Given the description of an element on the screen output the (x, y) to click on. 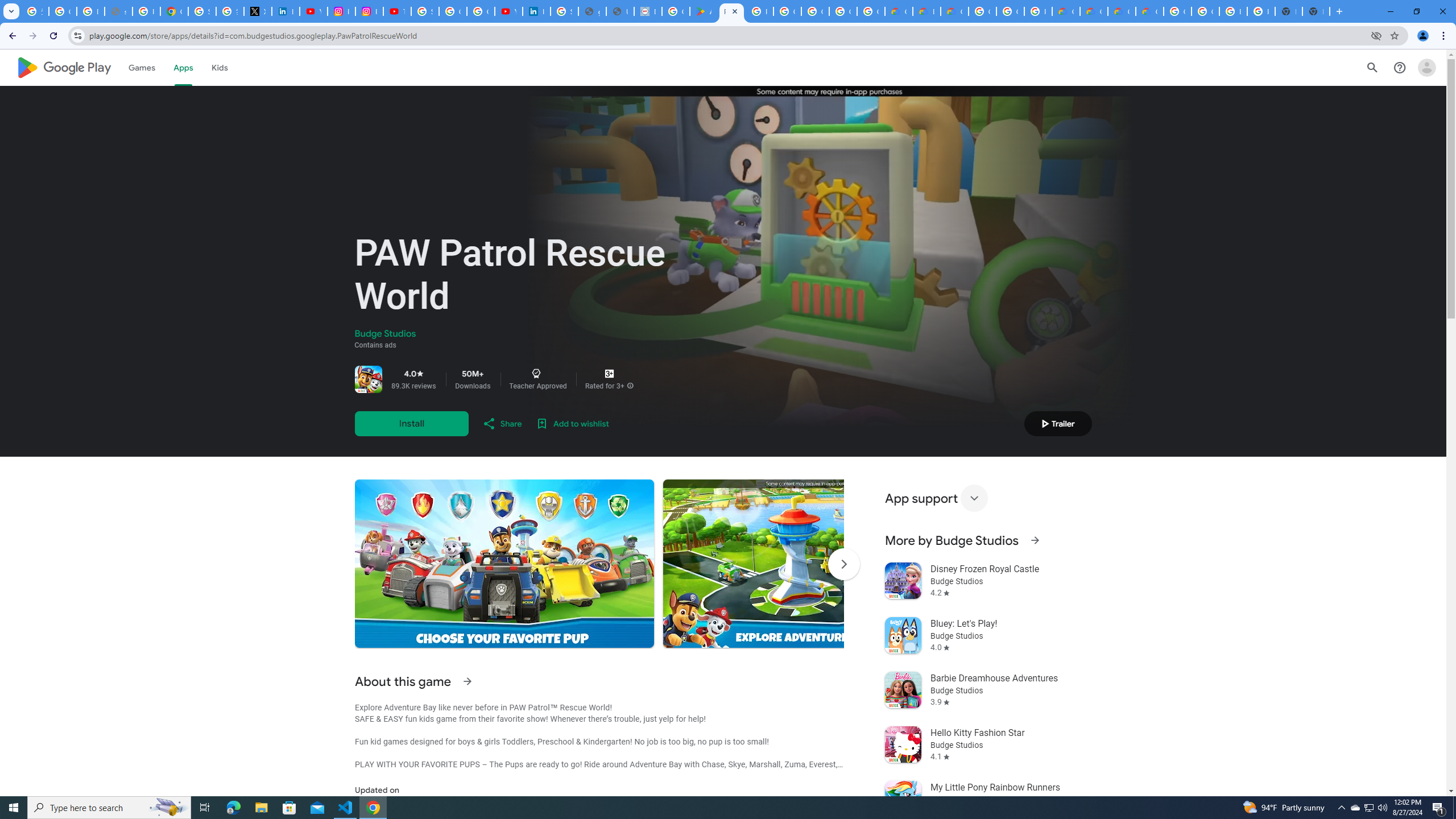
LinkedIn Privacy Policy (285, 11)
Content rating (609, 373)
Add to wishlist (571, 422)
Install (410, 423)
Apps (182, 67)
support.google.com - Network error (118, 11)
User Details (620, 11)
